Given the description of an element on the screen output the (x, y) to click on. 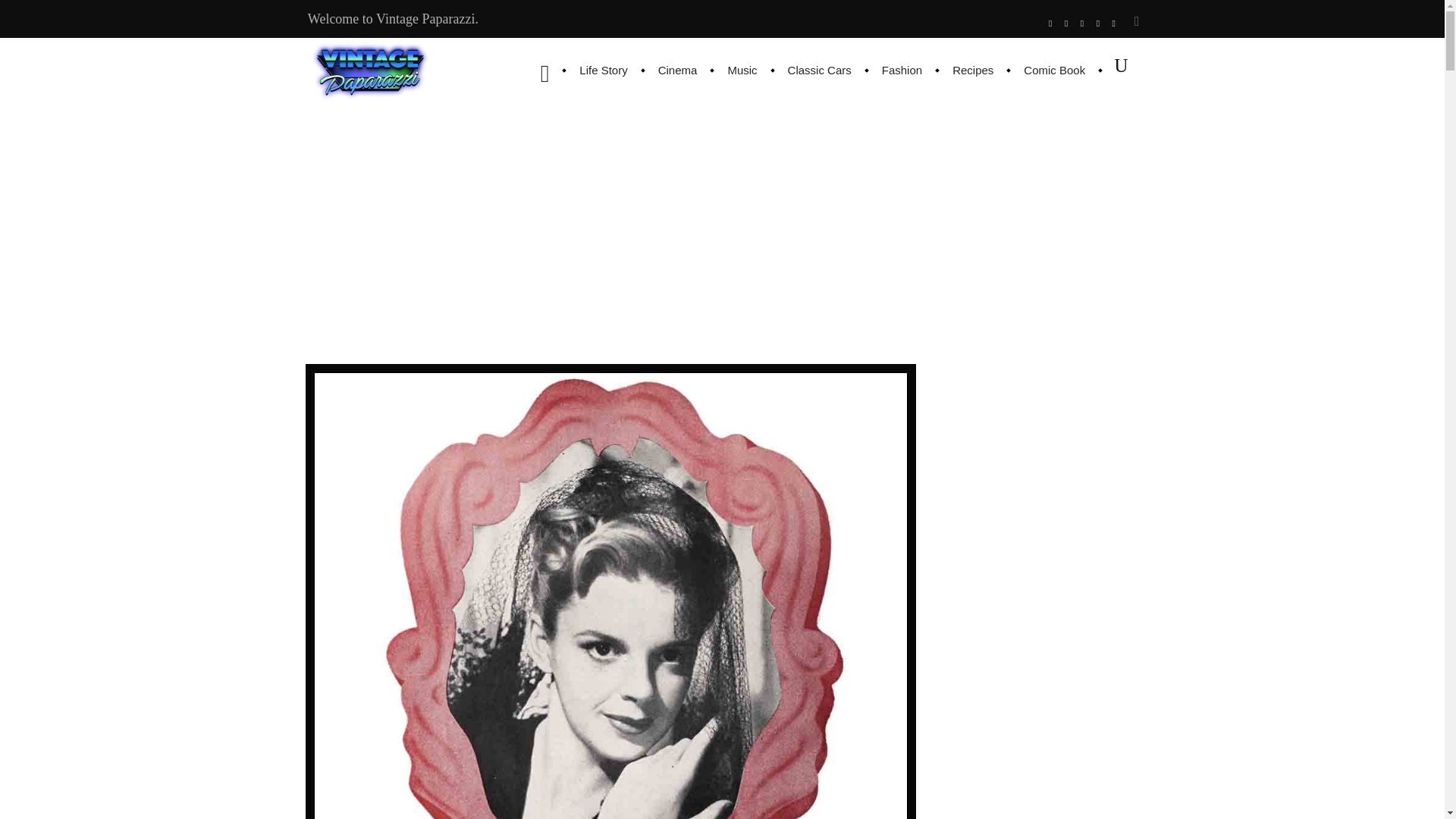
Classic Cars (819, 69)
Recipes (973, 69)
Cinema (678, 69)
Comic Book (1054, 69)
Life Story (603, 69)
Fashion (901, 69)
Music (741, 69)
